Given the description of an element on the screen output the (x, y) to click on. 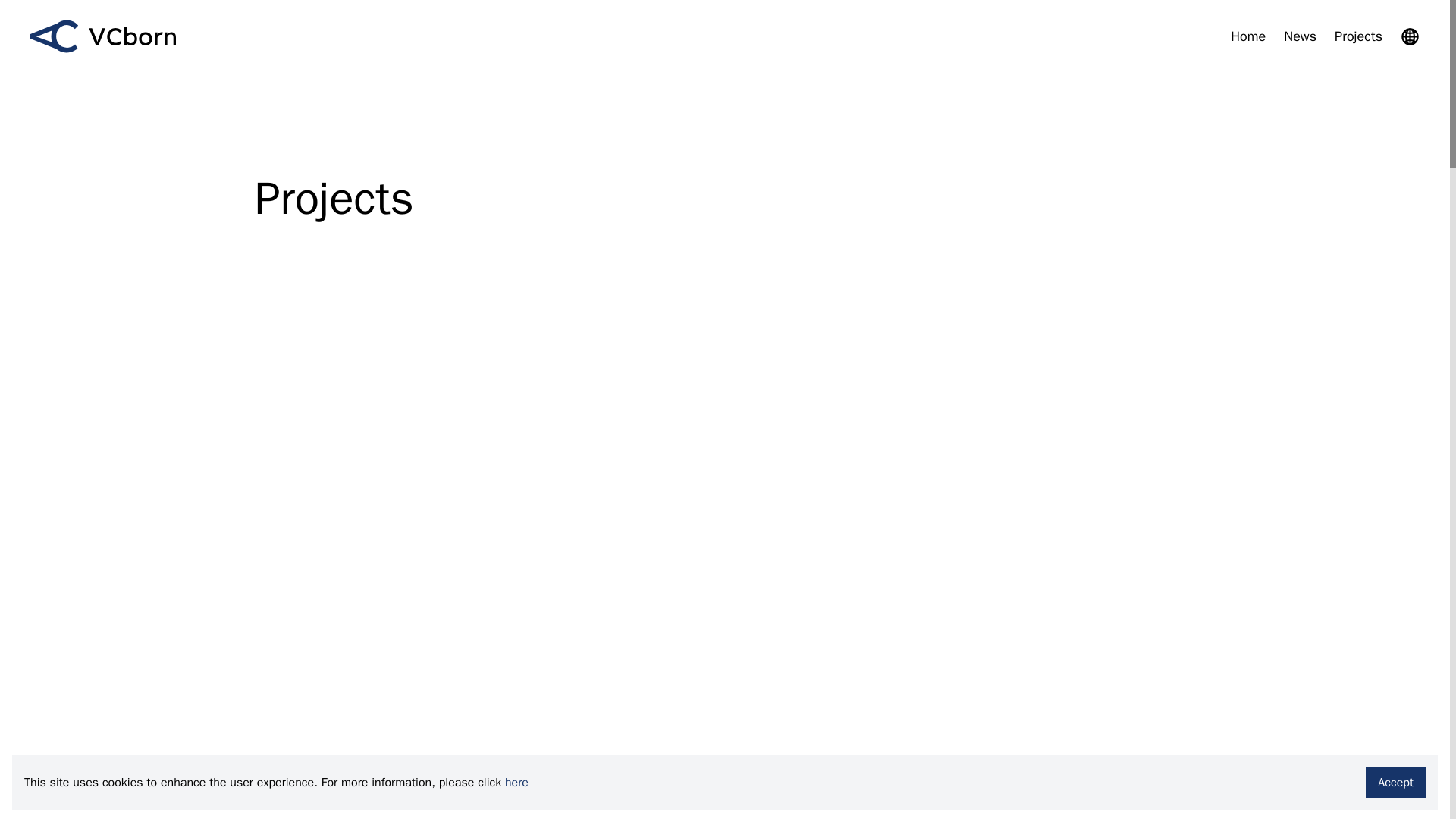
News (1300, 36)
Projects (1358, 36)
here (516, 782)
Home (1247, 36)
Accept (1395, 782)
